Given the description of an element on the screen output the (x, y) to click on. 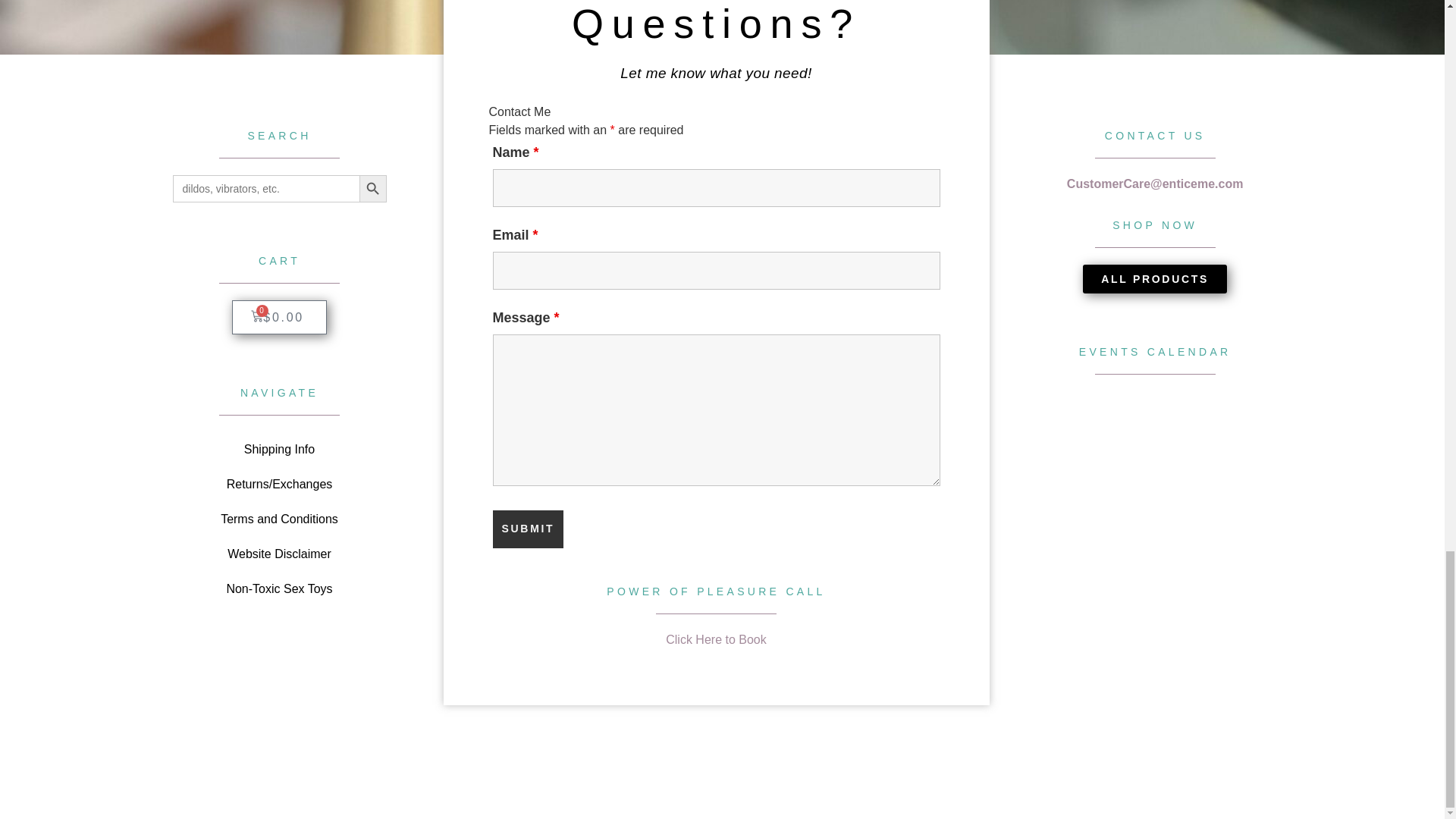
Submit (528, 528)
